Given the description of an element on the screen output the (x, y) to click on. 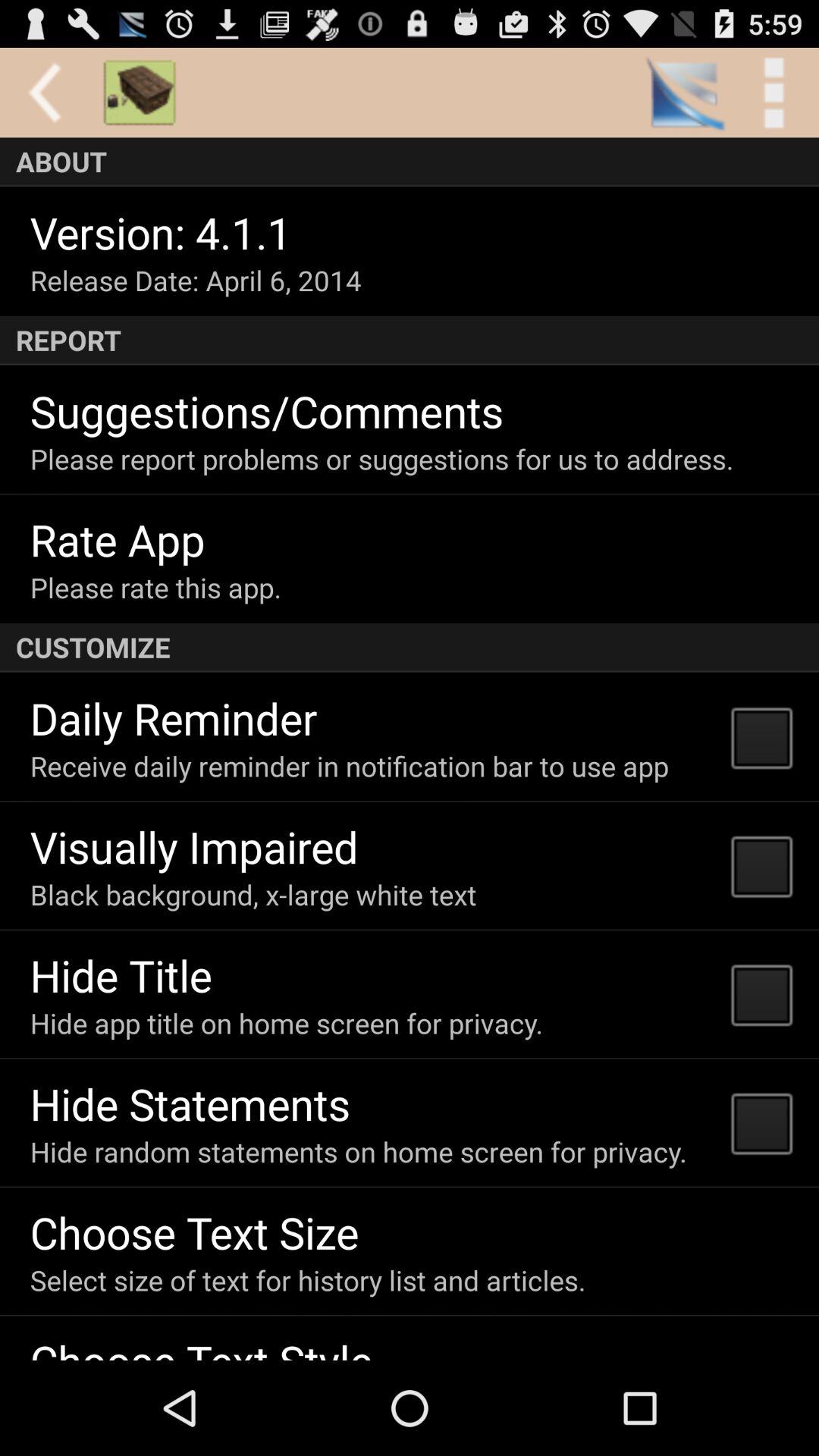
open app above the black background x item (194, 846)
